Given the description of an element on the screen output the (x, y) to click on. 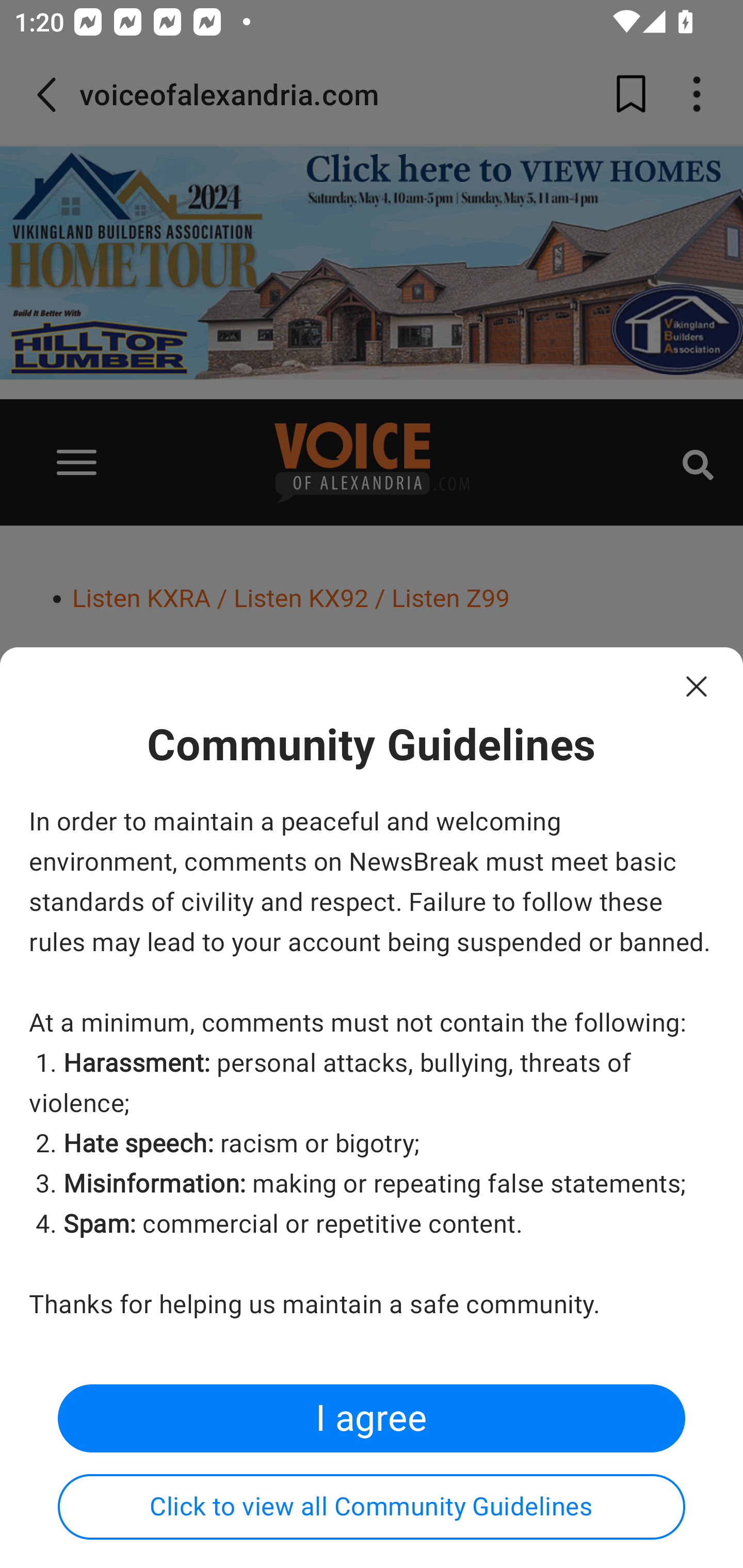
I agree (371, 1417)
Click to view all Community Guidelines (371, 1509)
Click to view all Community Guidelines (371, 1506)
